Given the description of an element on the screen output the (x, y) to click on. 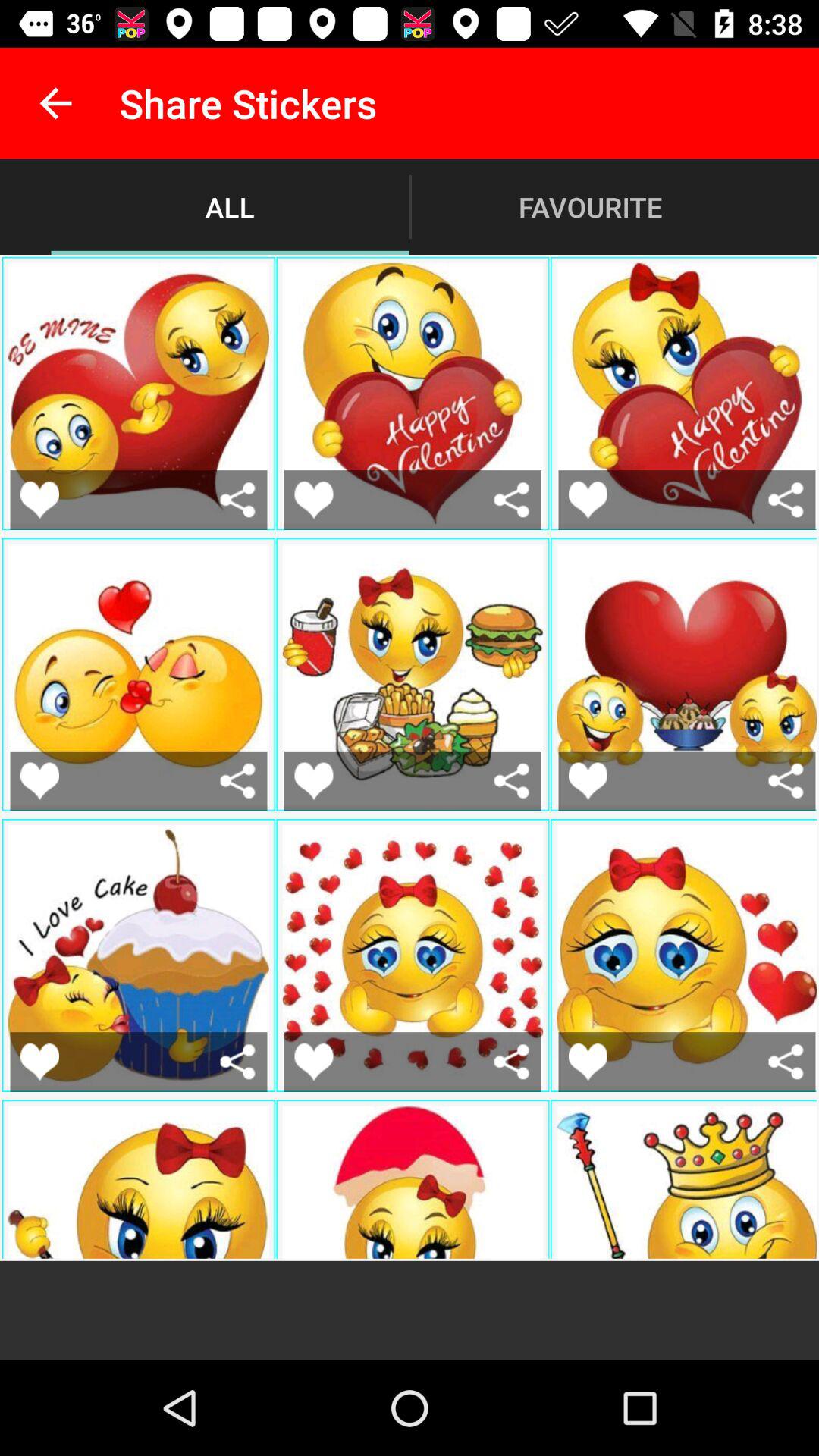
send (511, 1061)
